Given the description of an element on the screen output the (x, y) to click on. 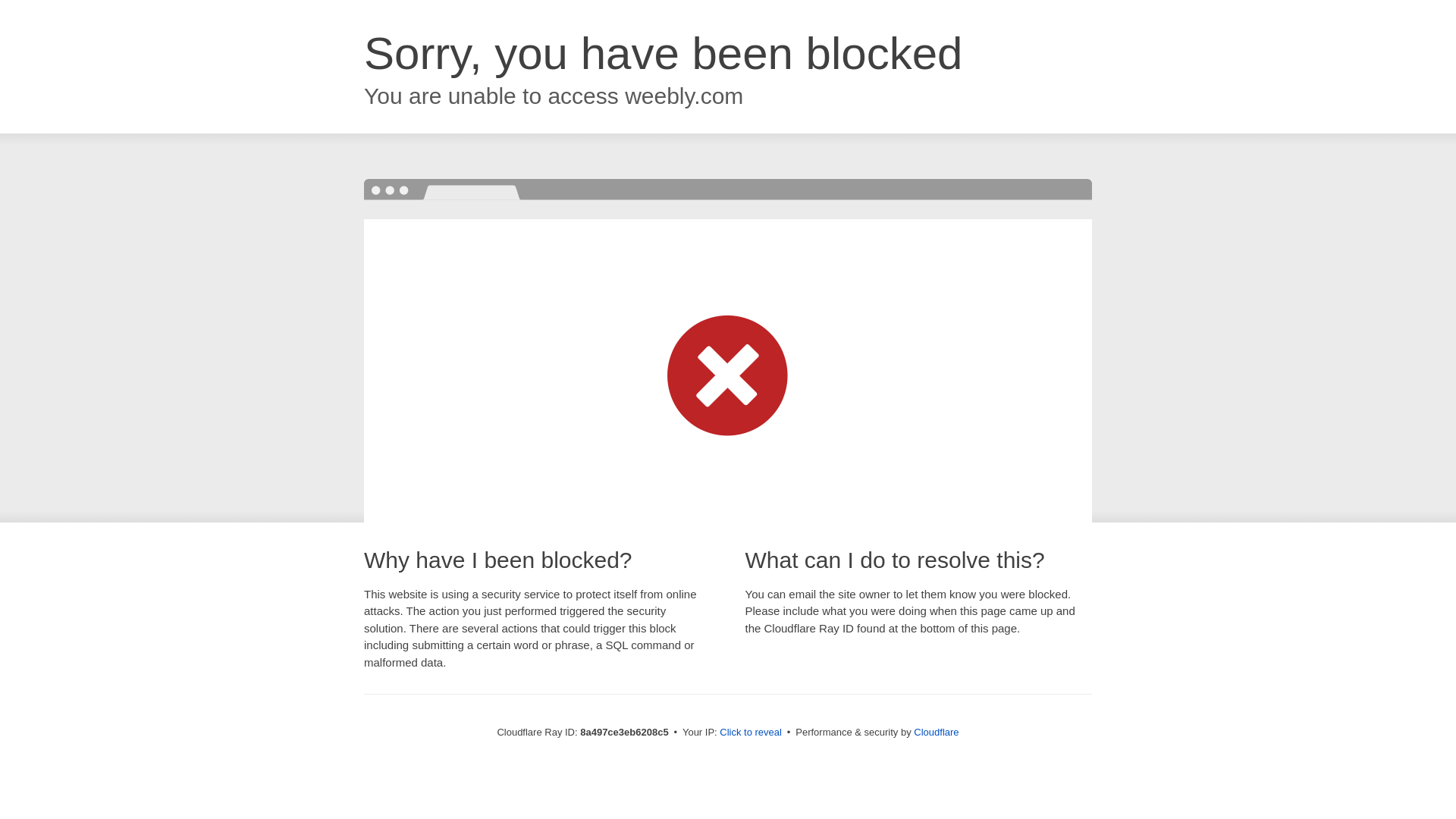
Cloudflare (936, 731)
Click to reveal (750, 732)
